Given the description of an element on the screen output the (x, y) to click on. 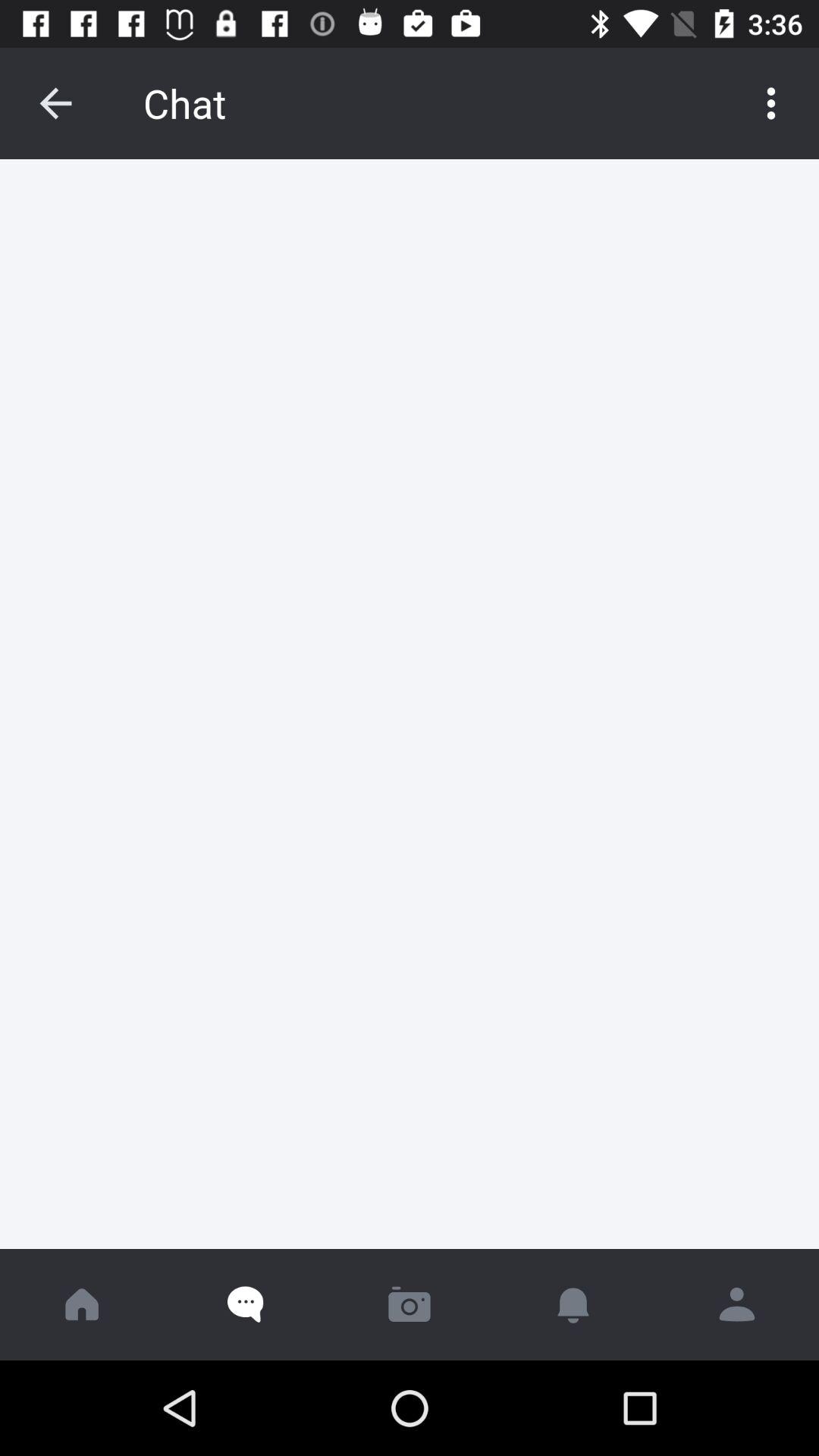
my account (737, 1304)
